Given the description of an element on the screen output the (x, y) to click on. 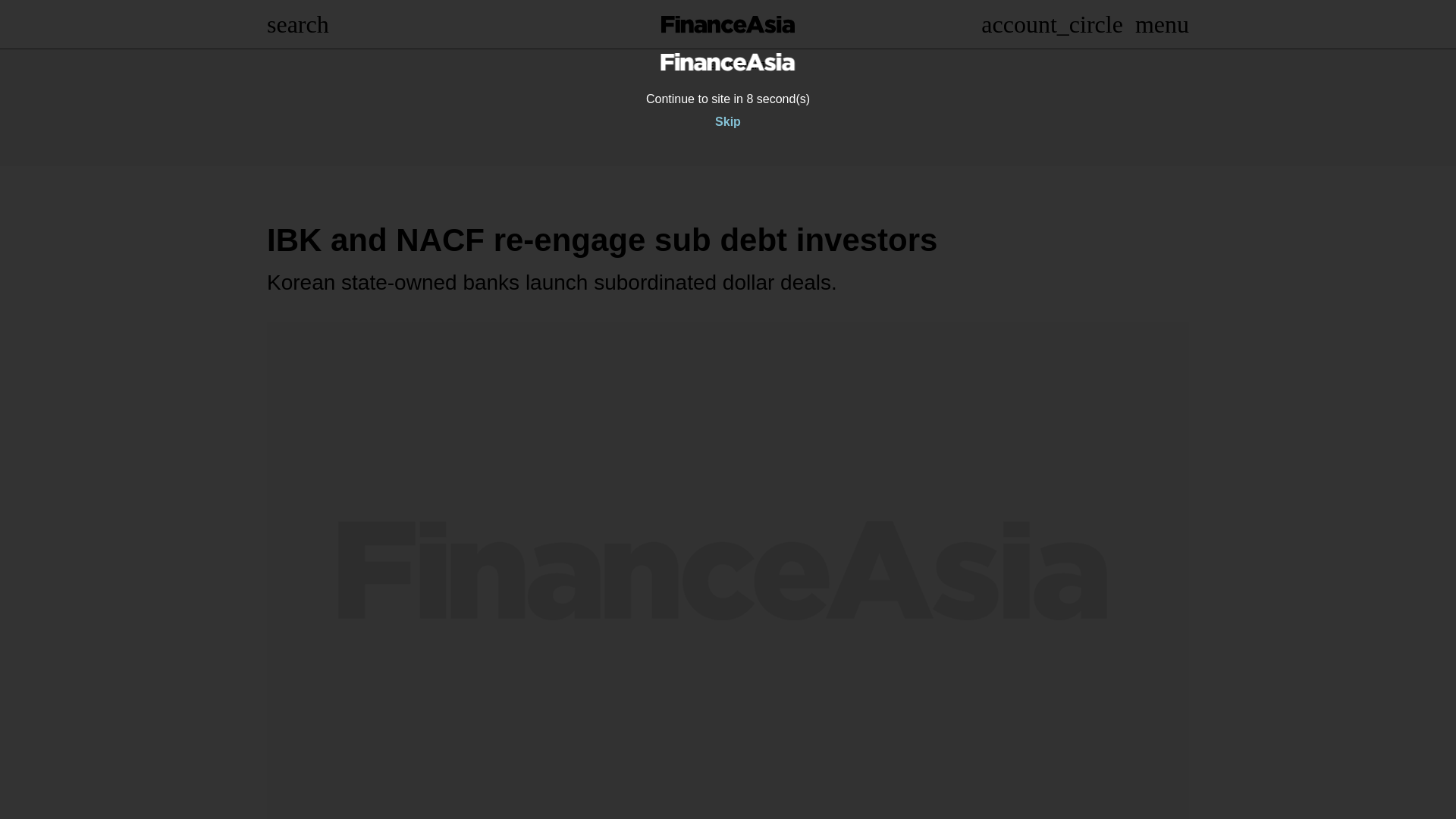
Search (297, 24)
Menu (1162, 24)
Sign In (1051, 24)
3rd party ad content (727, 107)
